Given the description of an element on the screen output the (x, y) to click on. 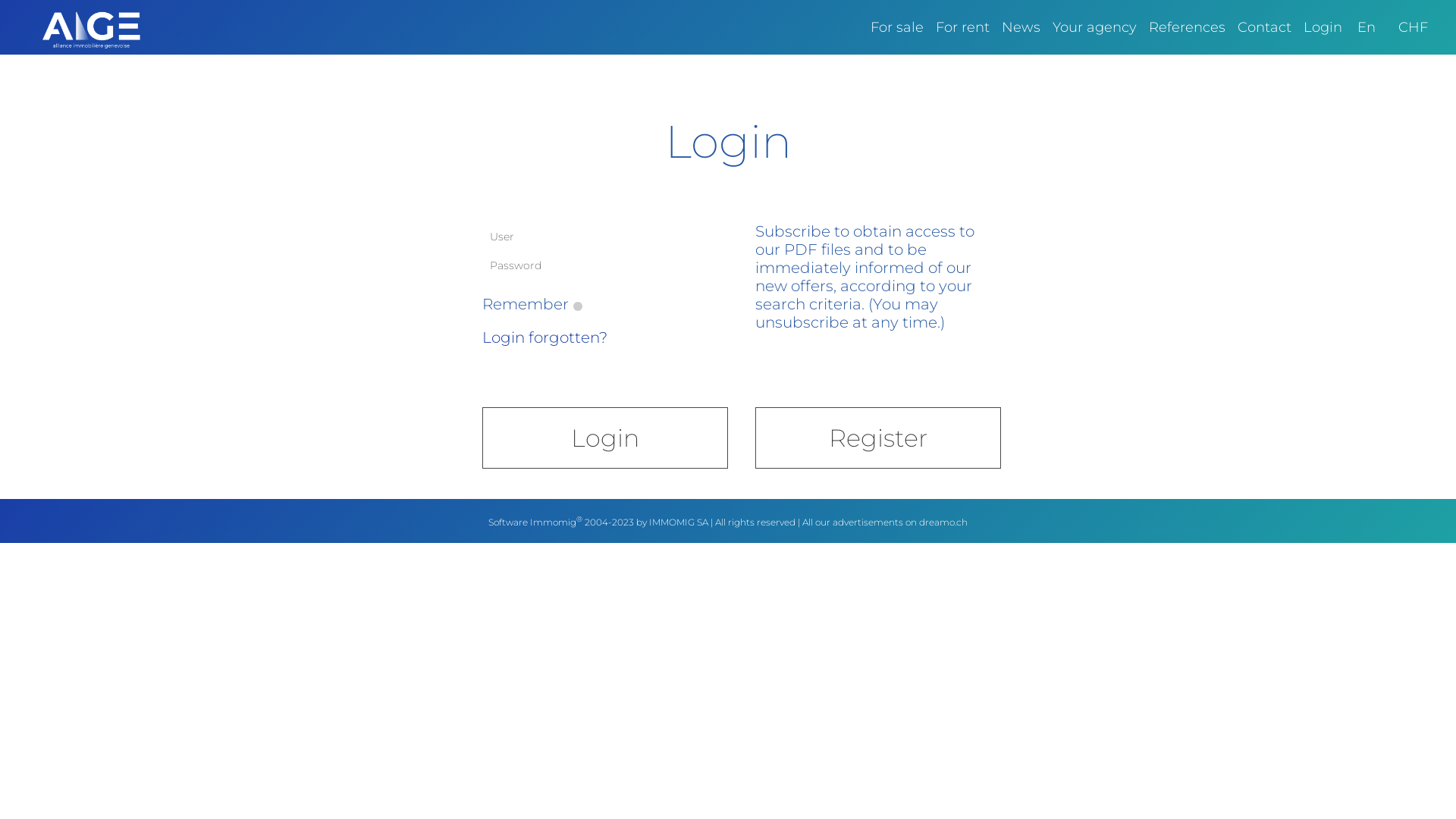
Login forgotten? Element type: text (544, 337)
Password Element type: hover (605, 265)
User Element type: hover (605, 236)
For sale Element type: text (896, 27)
Login Element type: text (1322, 27)
submit Element type: text (122, 14)
Login Element type: text (605, 437)
Register Element type: text (878, 437)
News Element type: text (1020, 27)
For rent Element type: text (962, 27)
dreamo.ch Element type: text (943, 521)
Contact Element type: text (1264, 27)
